Given the description of an element on the screen output the (x, y) to click on. 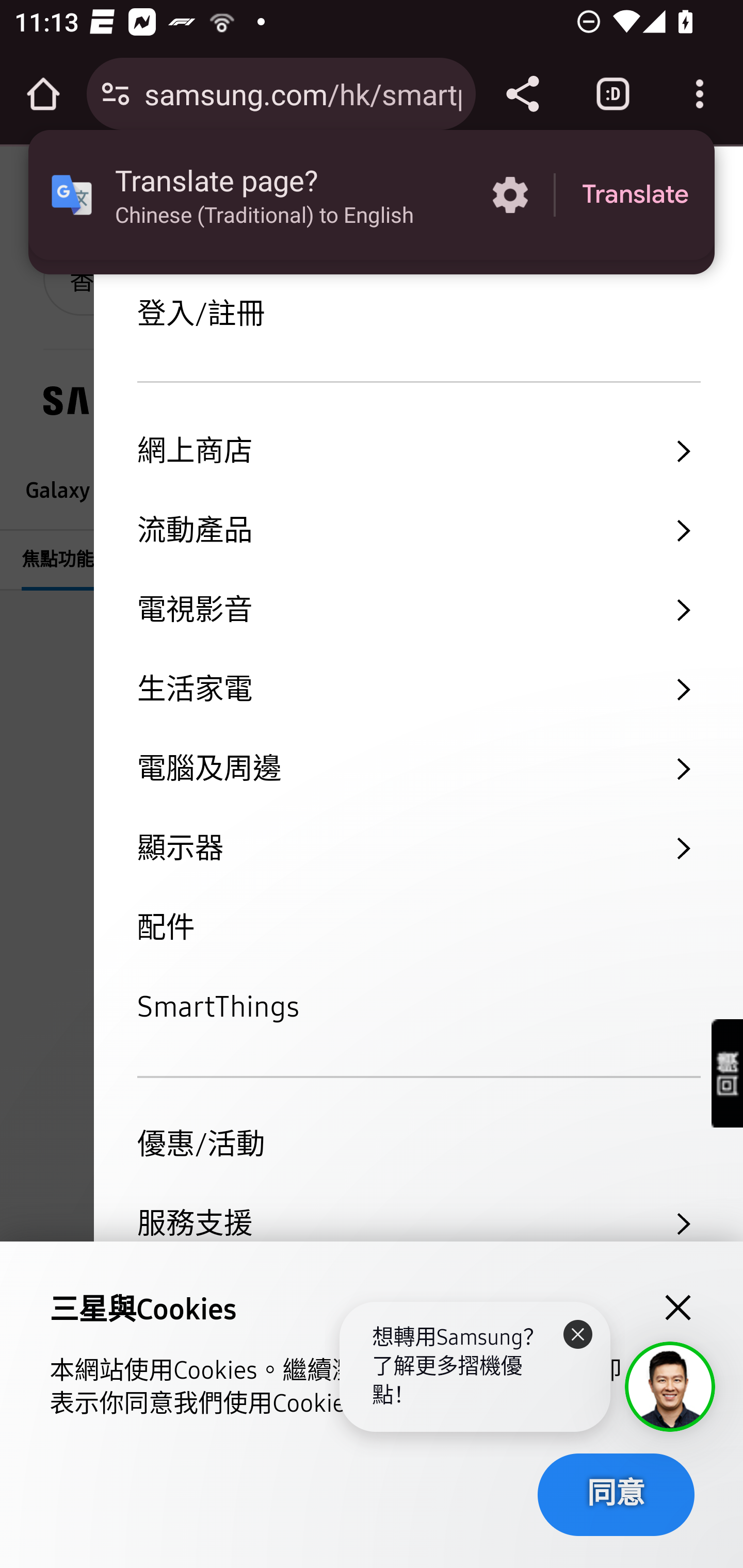
Open the home page (43, 93)
Connection is secure (115, 93)
Share (522, 93)
Switch or close tabs (612, 93)
Customize and control Google Chrome (699, 93)
OK (634, 209)
More options in the Translate page? (509, 195)
search (390, 195)
登入/註冊 (418, 314)
網上商店 (418, 451)
流動產品 (418, 531)
電視影音 (418, 609)
生活家電 (418, 689)
電腦及周邊 (418, 769)
顯示器 (418, 849)
配件 (418, 928)
SmartThings (418, 1007)
優惠/活動 (418, 1144)
服務支援 (418, 1223)
商務用戶選購 (418, 1303)
